Given the description of an element on the screen output the (x, y) to click on. 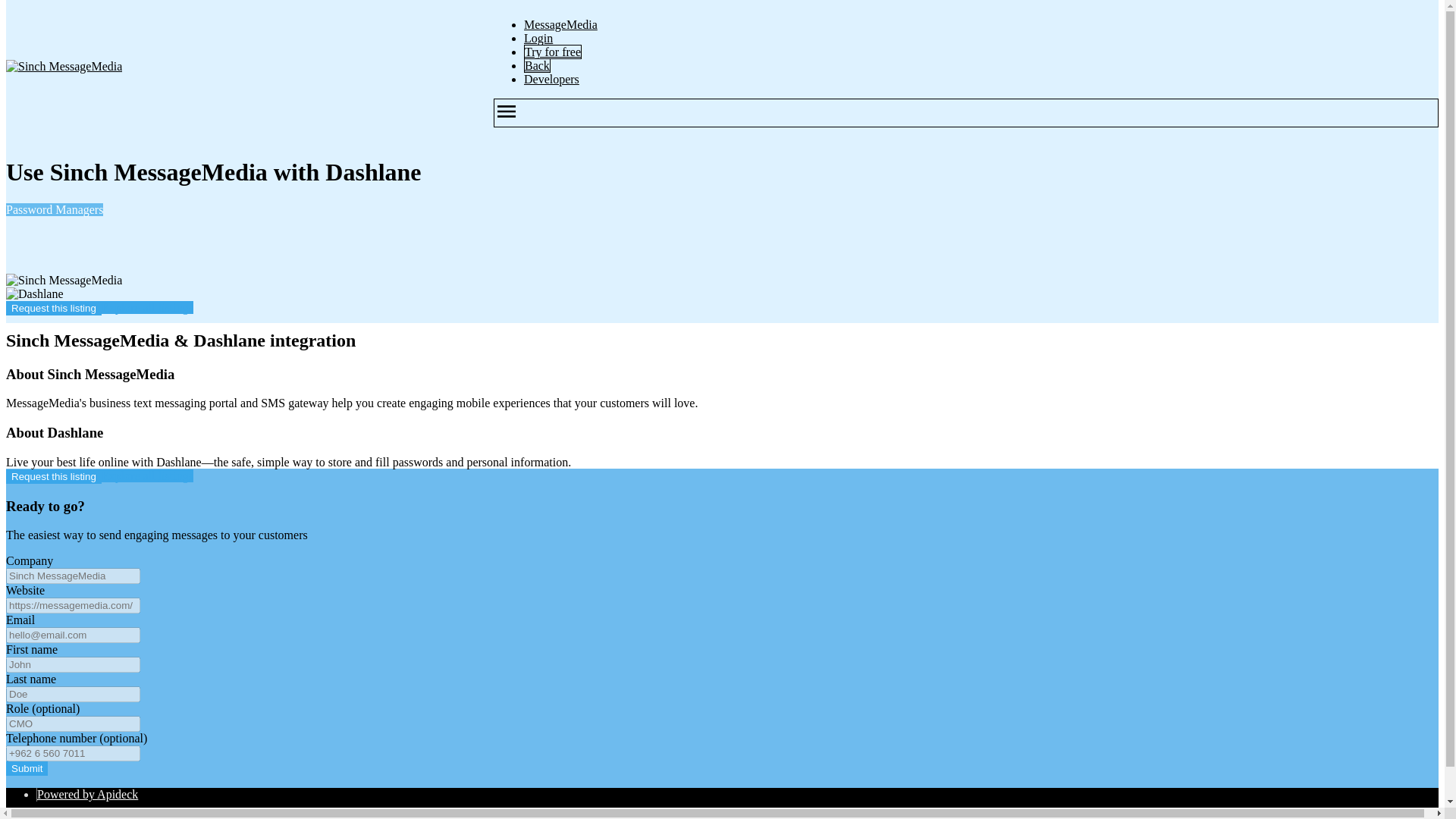
Login (538, 38)
Back (537, 65)
Sinch MessageMedia (63, 280)
Sinch MessageMedia (63, 66)
Request this listing (53, 308)
MessageMedia (560, 24)
Powered by Apideck (87, 793)
Explore all listings (147, 475)
Dashlane (34, 294)
Request this listing (53, 476)
